Given the description of an element on the screen output the (x, y) to click on. 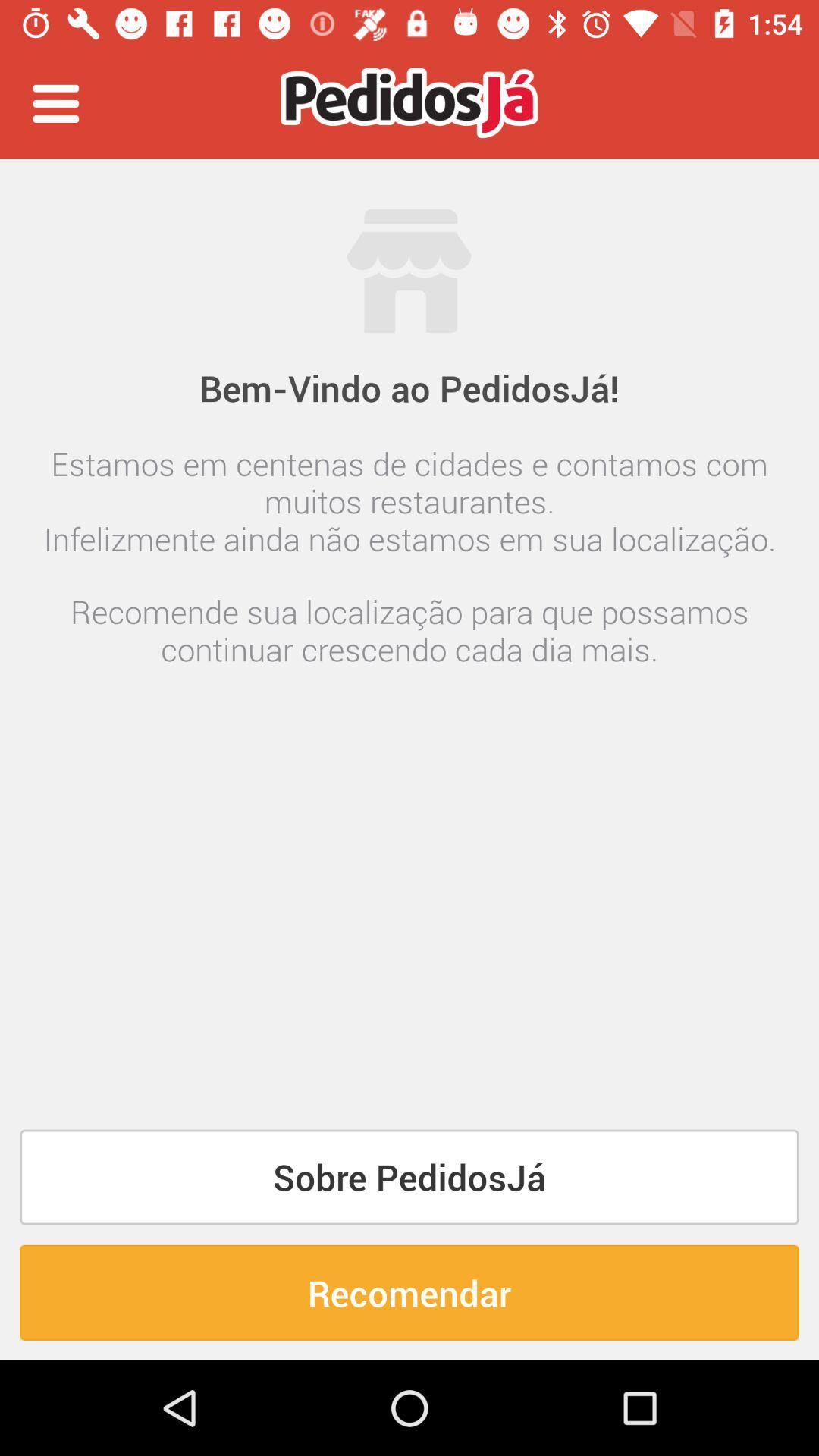
turn on the recomendar item (409, 1292)
